Given the description of an element on the screen output the (x, y) to click on. 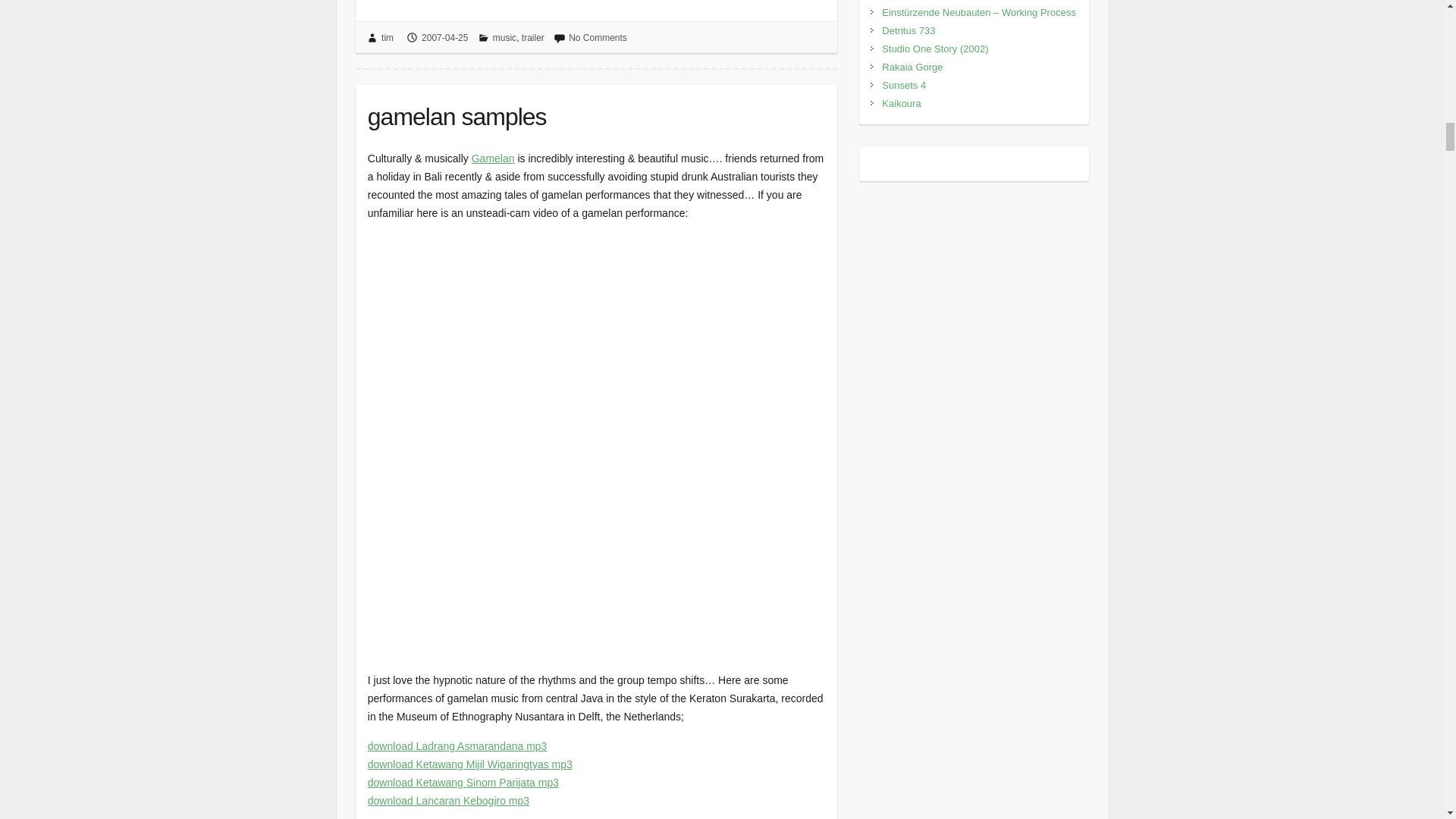
gamelan samples (596, 113)
